Given the description of an element on the screen output the (x, y) to click on. 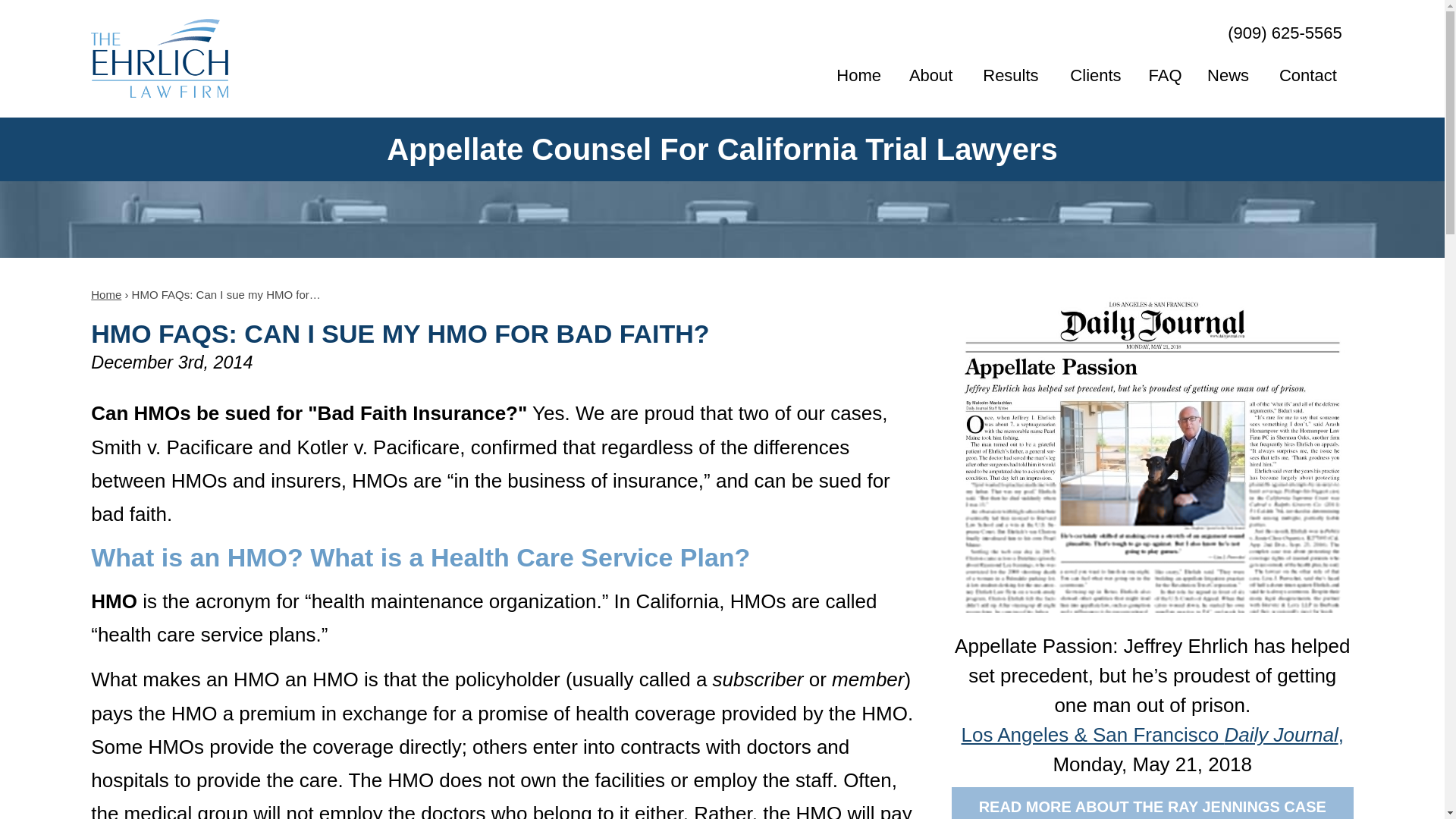
Home (105, 294)
Contact (1308, 75)
About (930, 75)
News (1227, 75)
Home (858, 75)
Results (1010, 75)
FAQ (1165, 75)
READ MORE ABOUT THE RAY JENNINGS CASE (1153, 803)
Clients (1095, 75)
